Given the description of an element on the screen output the (x, y) to click on. 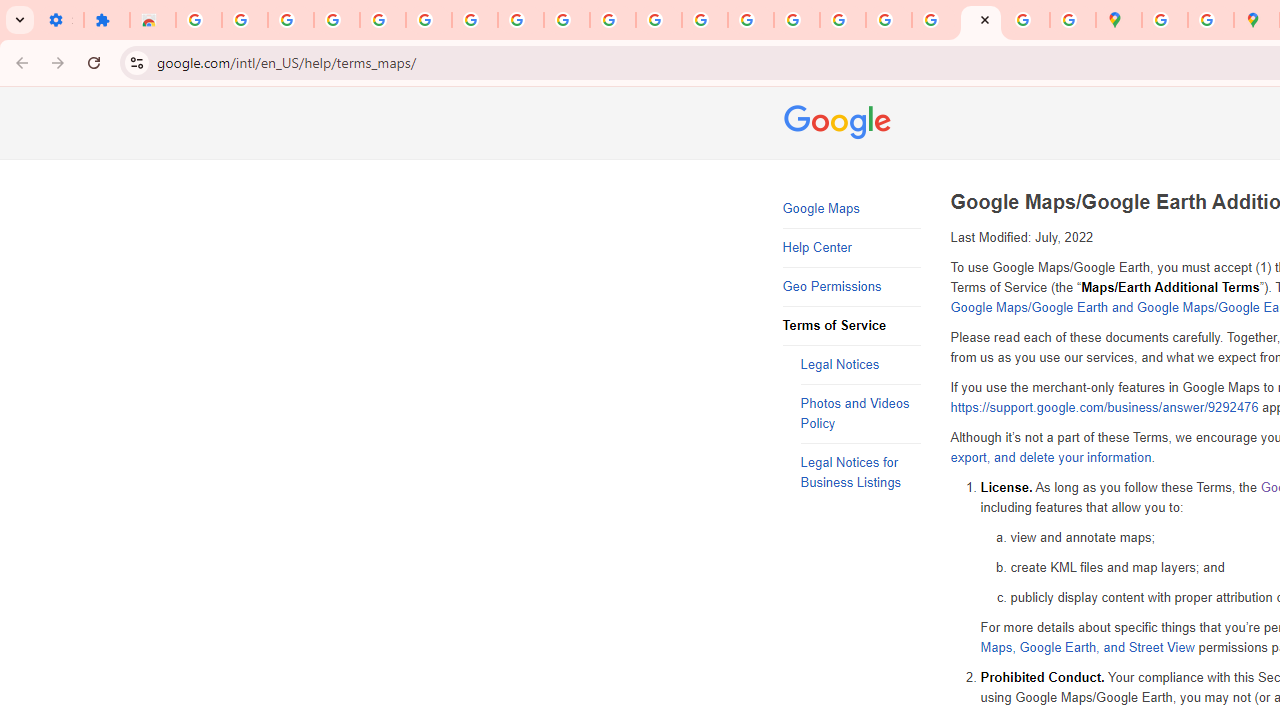
Learn how to find your photos - Google Photos Help (290, 20)
Geo Permissions (851, 286)
Google (840, 123)
Sign in - Google Accounts (1164, 20)
Help Center (851, 247)
Google Maps (851, 209)
Sign in - Google Accounts (382, 20)
Privacy Help Center - Policies Help (797, 20)
Legal Notices (860, 365)
Extensions (107, 20)
Reviews: Helix Fruit Jump Arcade Game (153, 20)
